Given the description of an element on the screen output the (x, y) to click on. 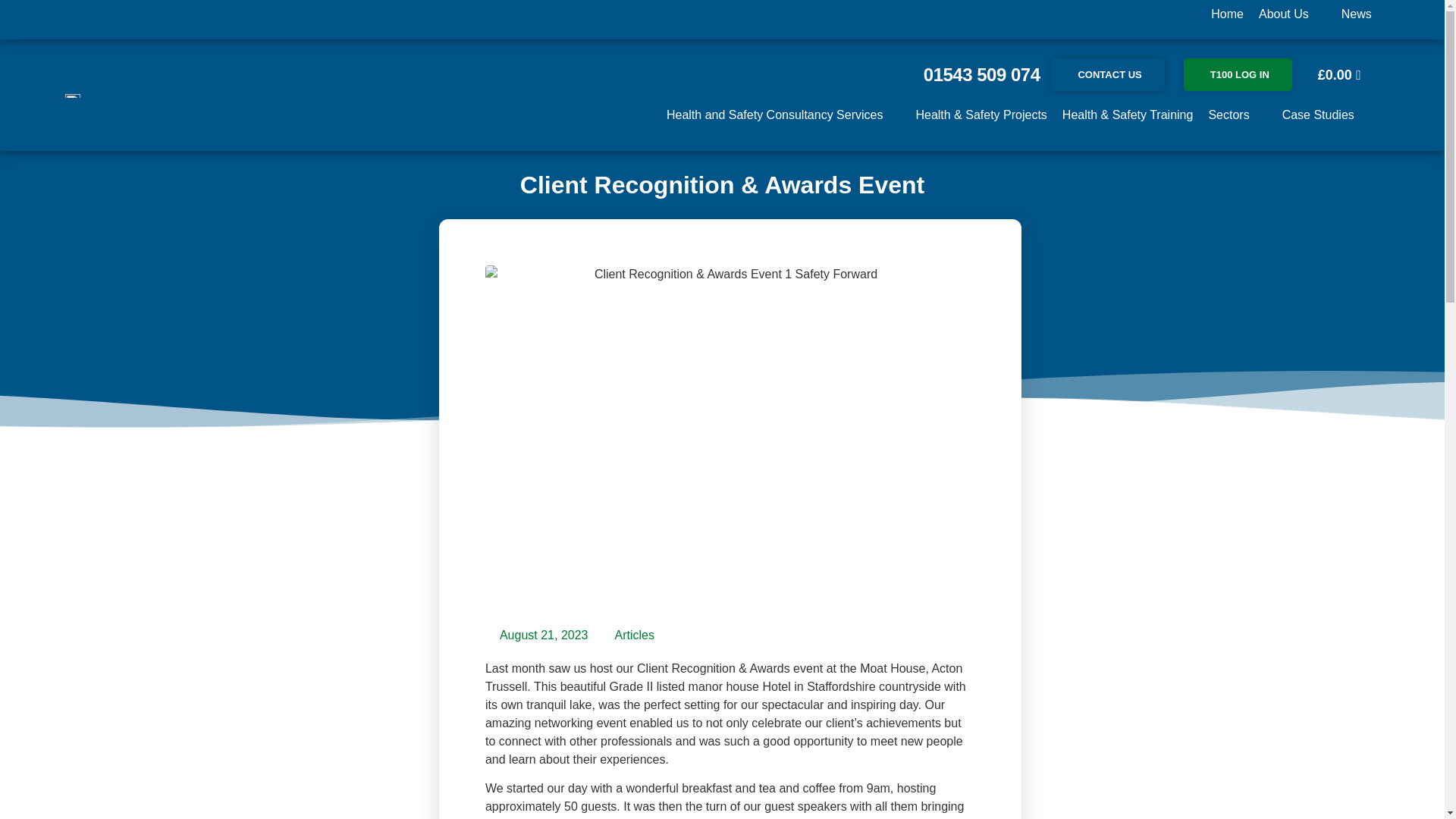
About Us (1283, 13)
News (1355, 13)
Home (1227, 13)
T100 LOG IN (1237, 74)
CONTACT US (1107, 74)
Health and Safety Consultancy Services (774, 115)
